Given the description of an element on the screen output the (x, y) to click on. 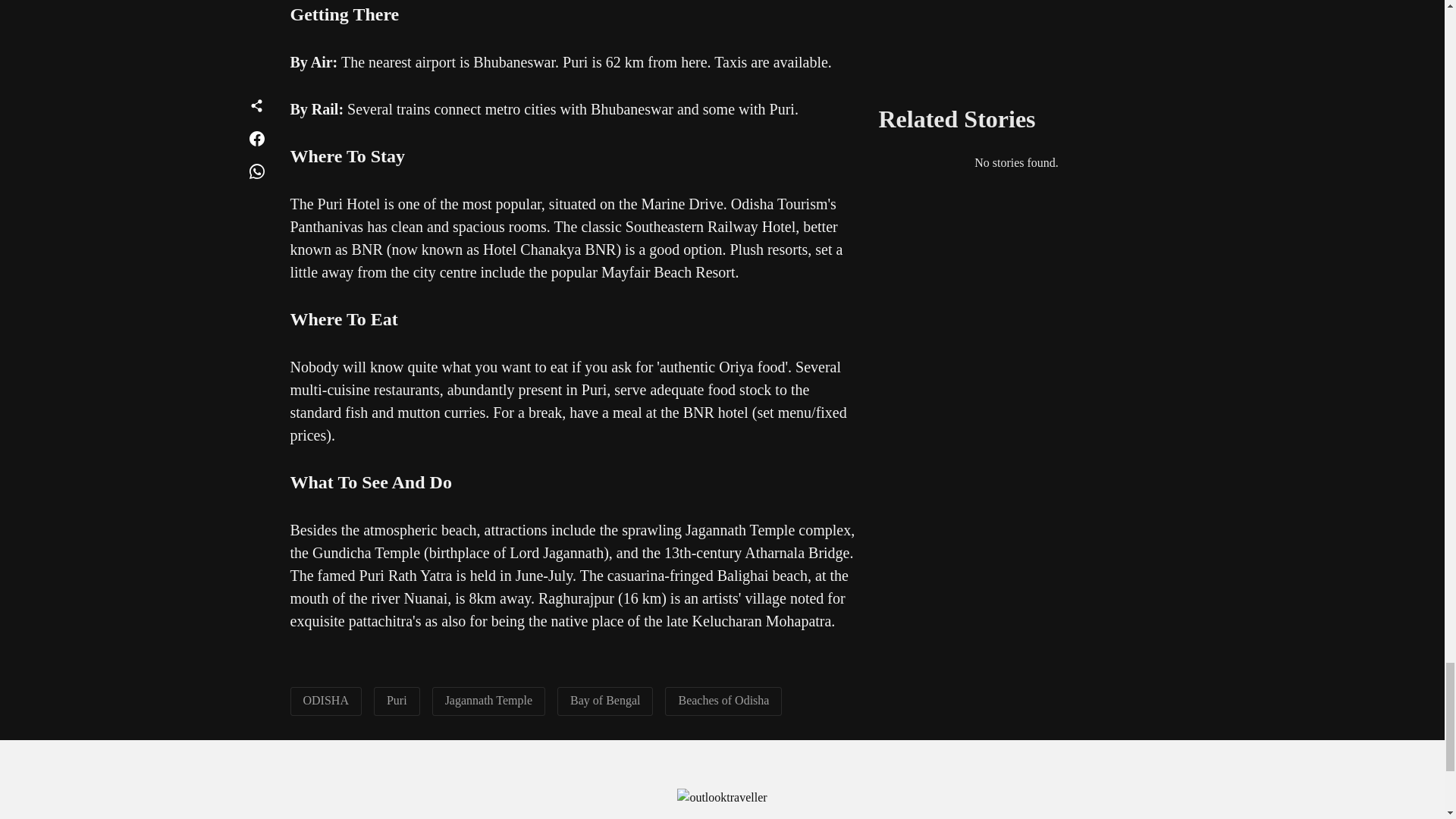
ODISHA (325, 699)
Bay of Bengal (605, 699)
Beaches of Odisha (723, 699)
Jagannath Temple (488, 699)
Puri (397, 699)
